Given the description of an element on the screen output the (x, y) to click on. 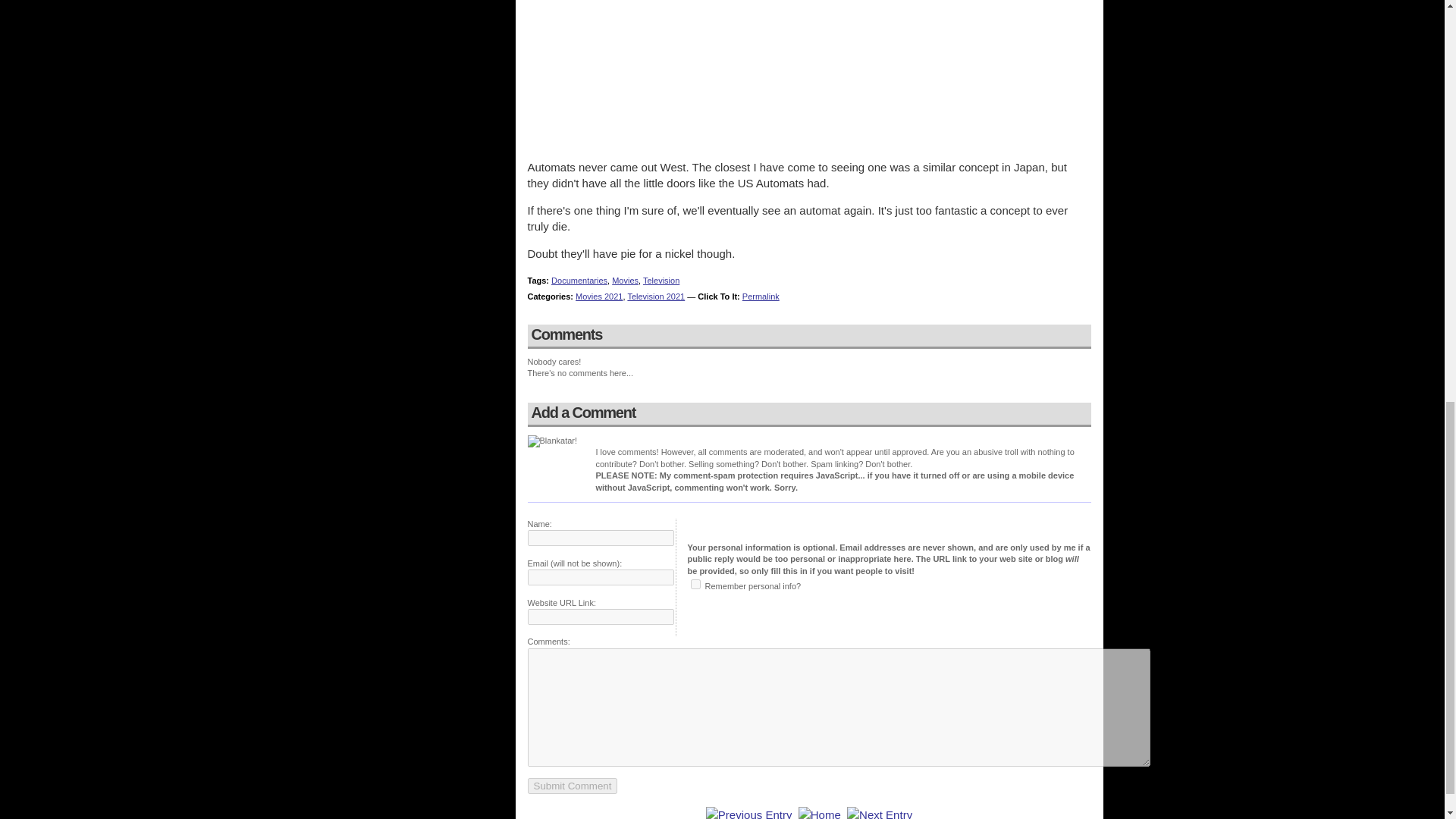
Documentaries (579, 280)
Permalink (760, 296)
Television (661, 280)
1 (695, 583)
Movies (625, 280)
Movies 2021 (599, 296)
Submit Comment (572, 785)
Television 2021 (655, 296)
Submit Comment (572, 785)
